Given the description of an element on the screen output the (x, y) to click on. 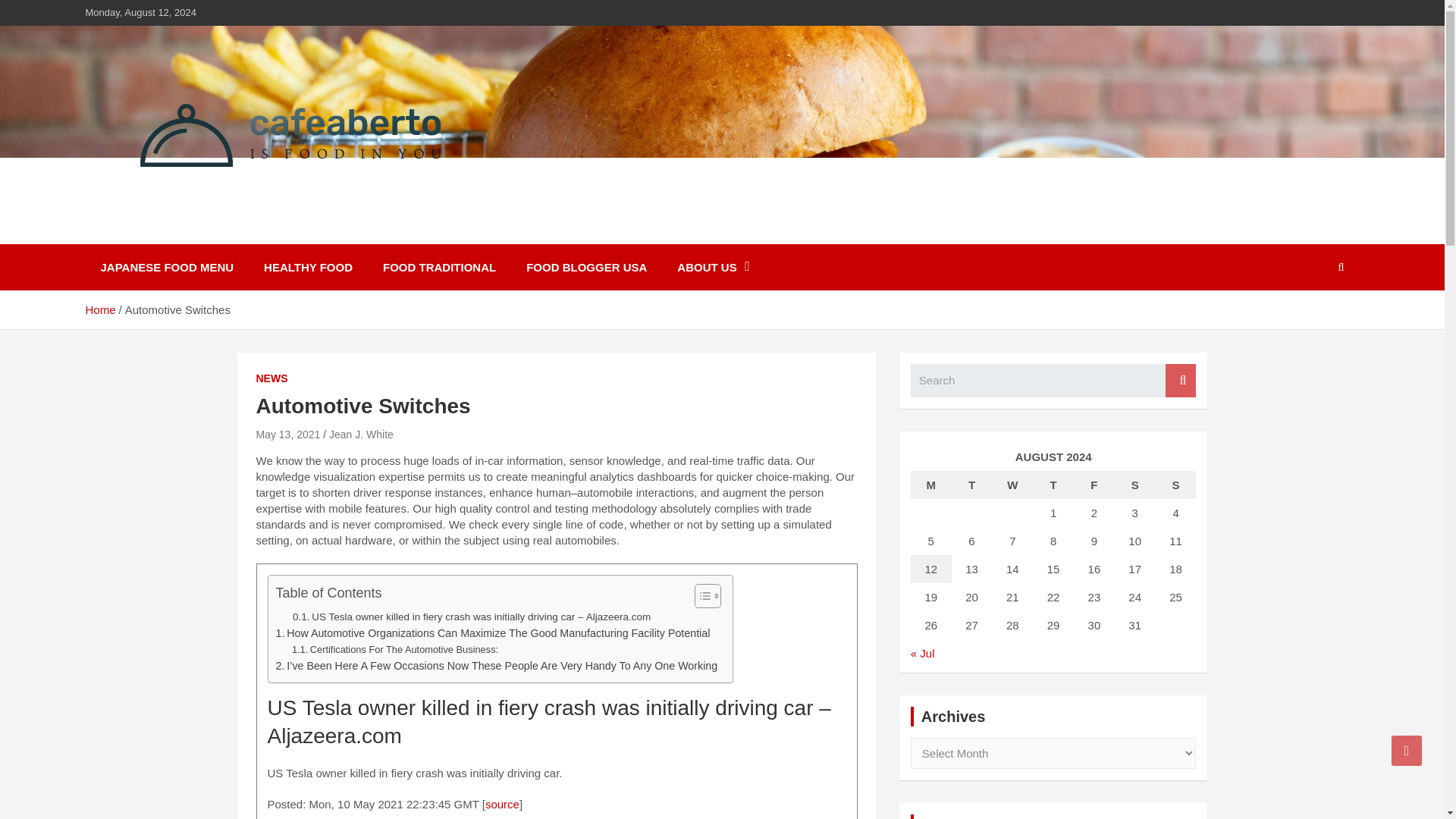
Certifications For The Automotive Business: (394, 650)
HEALTHY FOOD (308, 267)
Wednesday (1011, 484)
ABOUT US (713, 267)
NEWS (272, 378)
Jean J. White (361, 434)
Home (99, 309)
Certifications For The Automotive Business: (394, 650)
Automotive Switches (288, 434)
